Given the description of an element on the screen output the (x, y) to click on. 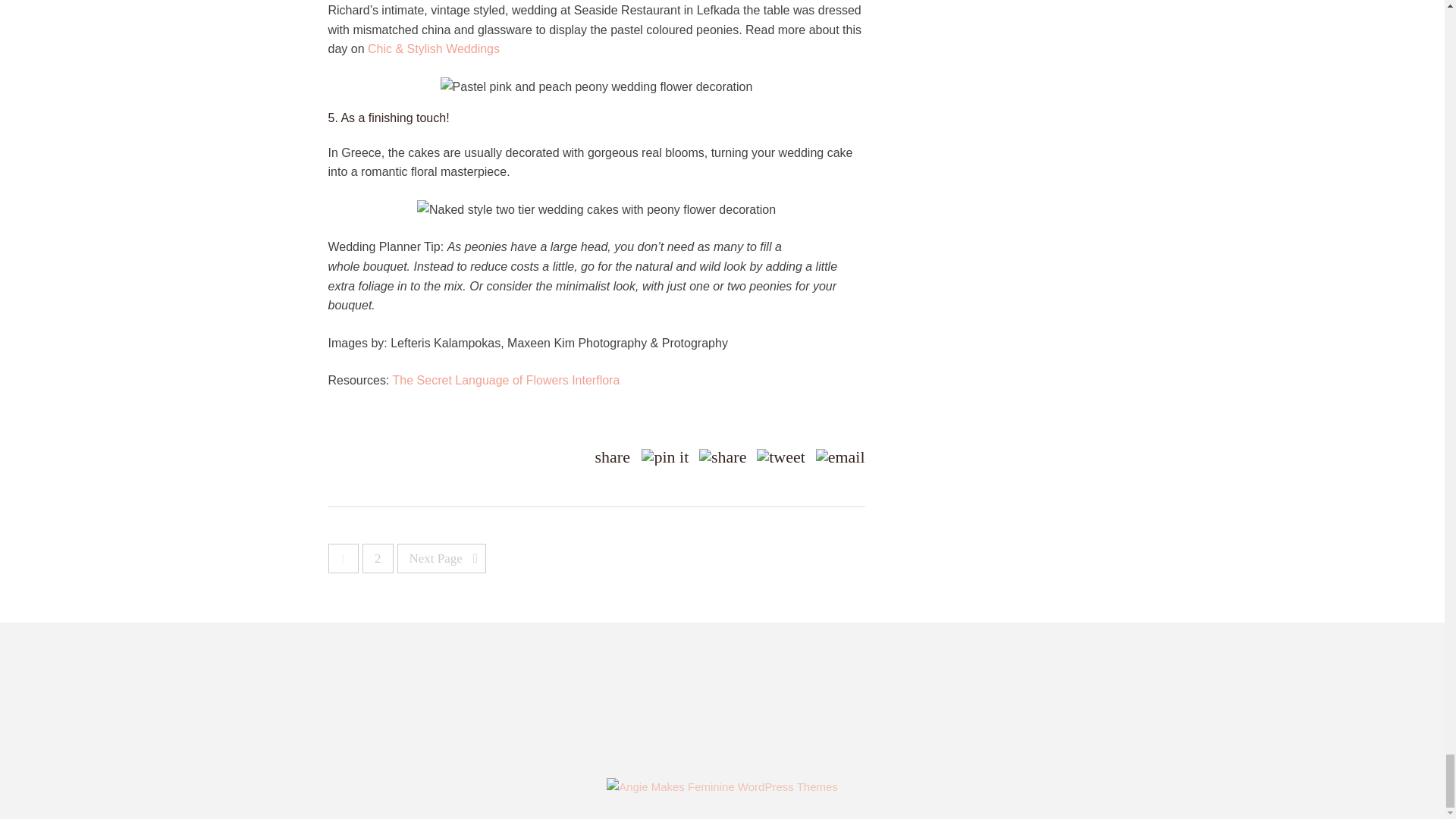
Share by Email (839, 457)
